Given the description of an element on the screen output the (x, y) to click on. 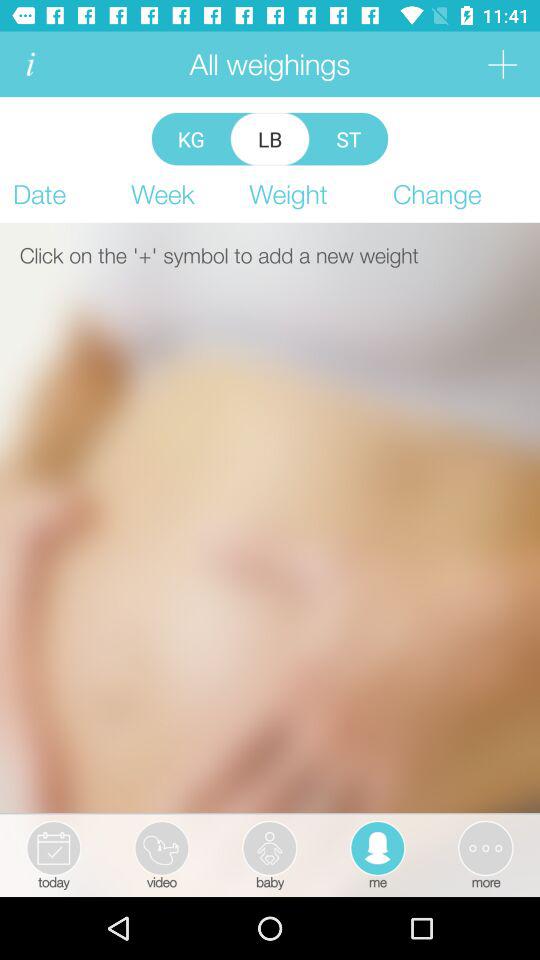
choose item next to lb icon (190, 138)
